Given the description of an element on the screen output the (x, y) to click on. 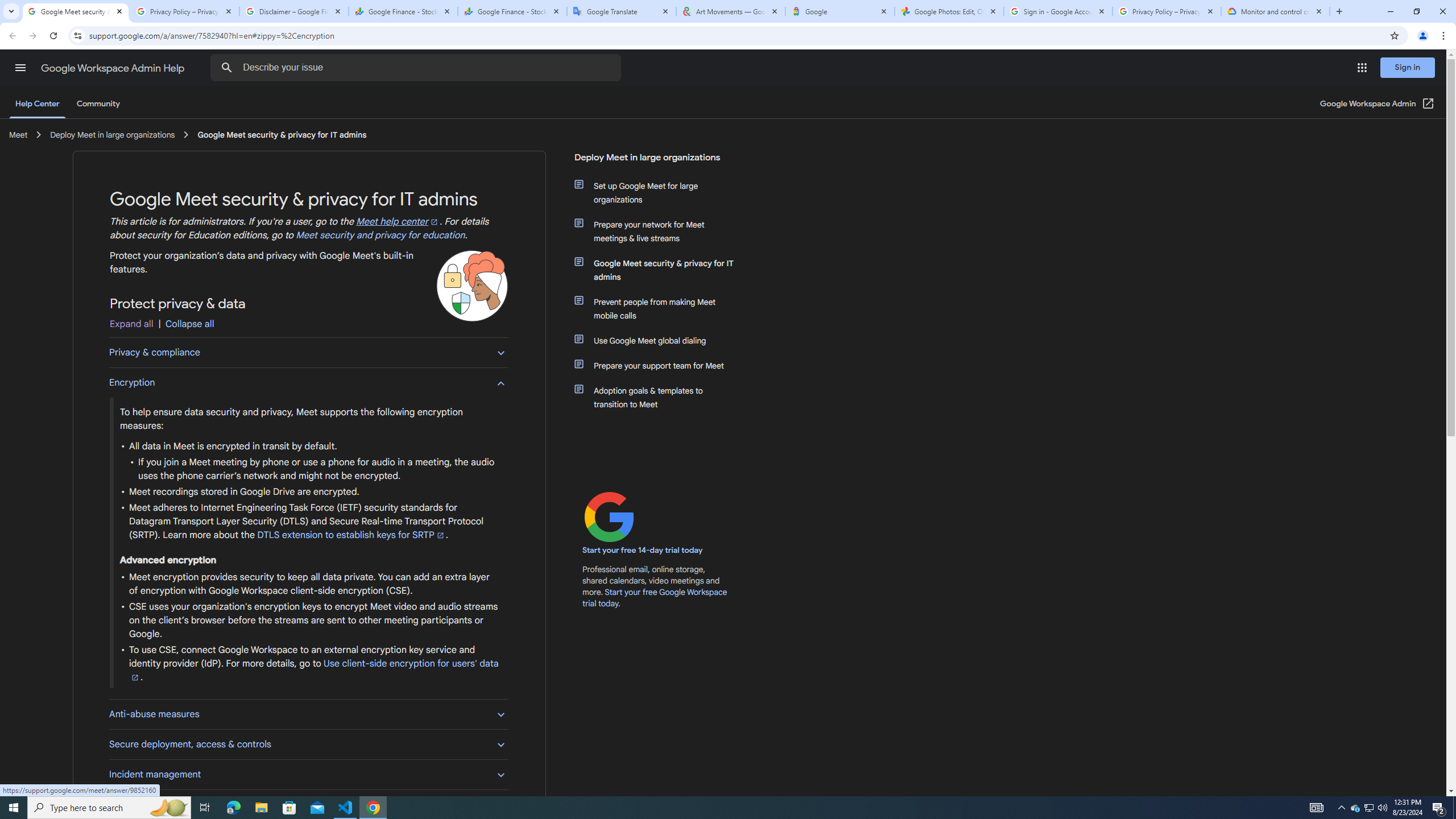
Search Help Center (227, 67)
Encryption (308, 382)
Adoption goals & templates to transition to Meet (661, 397)
DTLS extension to establish keys for SRTP (351, 534)
Meet help center (397, 221)
Community (97, 103)
Google Translate (621, 11)
Prevent people from making Meet mobile calls (661, 308)
Google Workspace Admin Help (113, 68)
